Given the description of an element on the screen output the (x, y) to click on. 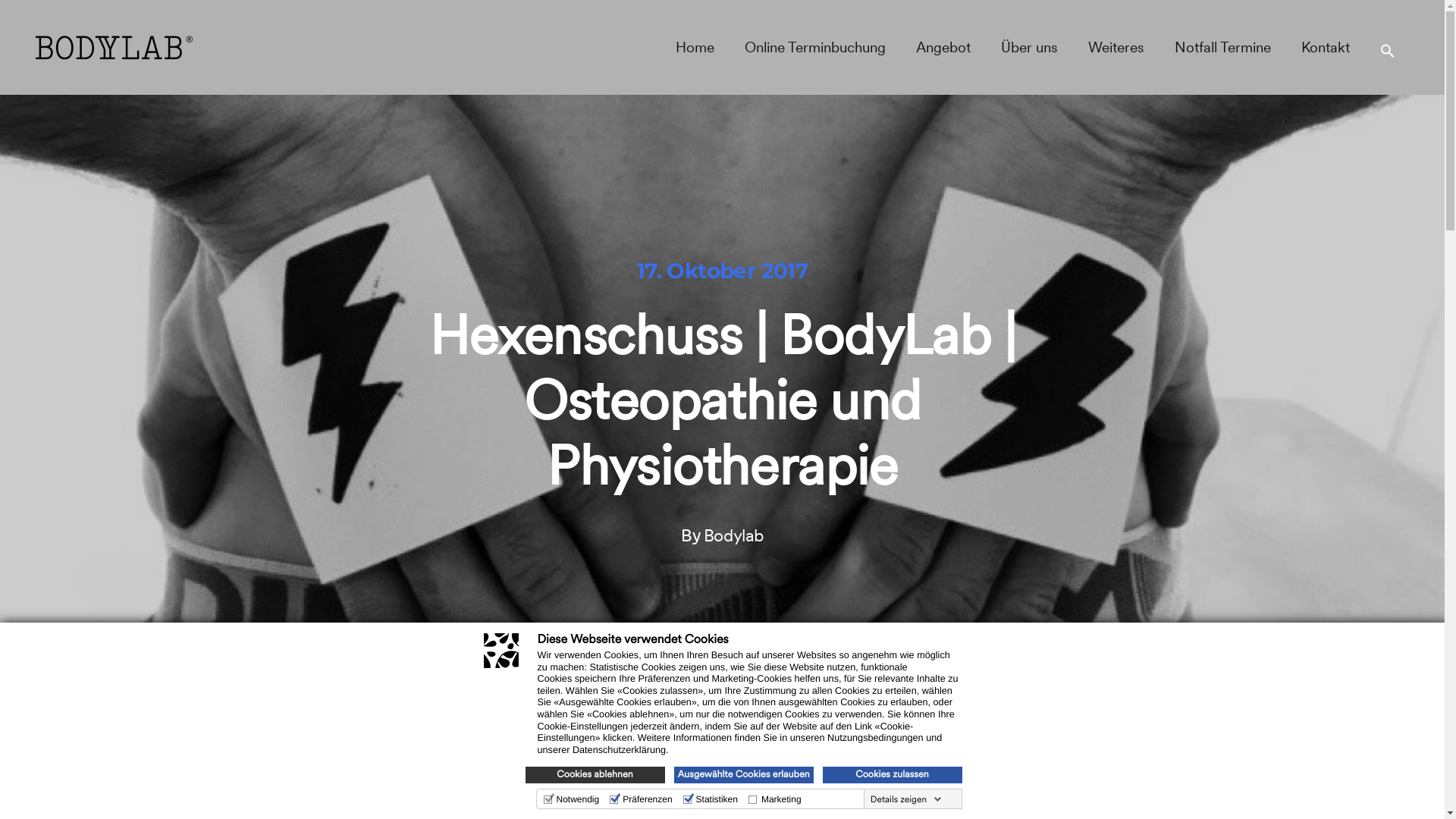
Home Element type: text (694, 47)
Notfall Termine Element type: text (1222, 47)
Kontakt Element type: text (1325, 47)
Cookies ablehnen Element type: text (594, 774)
Cookies zulassen Element type: text (891, 774)
Bodylab Element type: text (733, 535)
Details zeigen Element type: text (905, 799)
Weiteres Element type: text (1116, 47)
Online Terminbuchung Element type: text (814, 47)
Angebot Element type: text (942, 47)
